Given the description of an element on the screen output the (x, y) to click on. 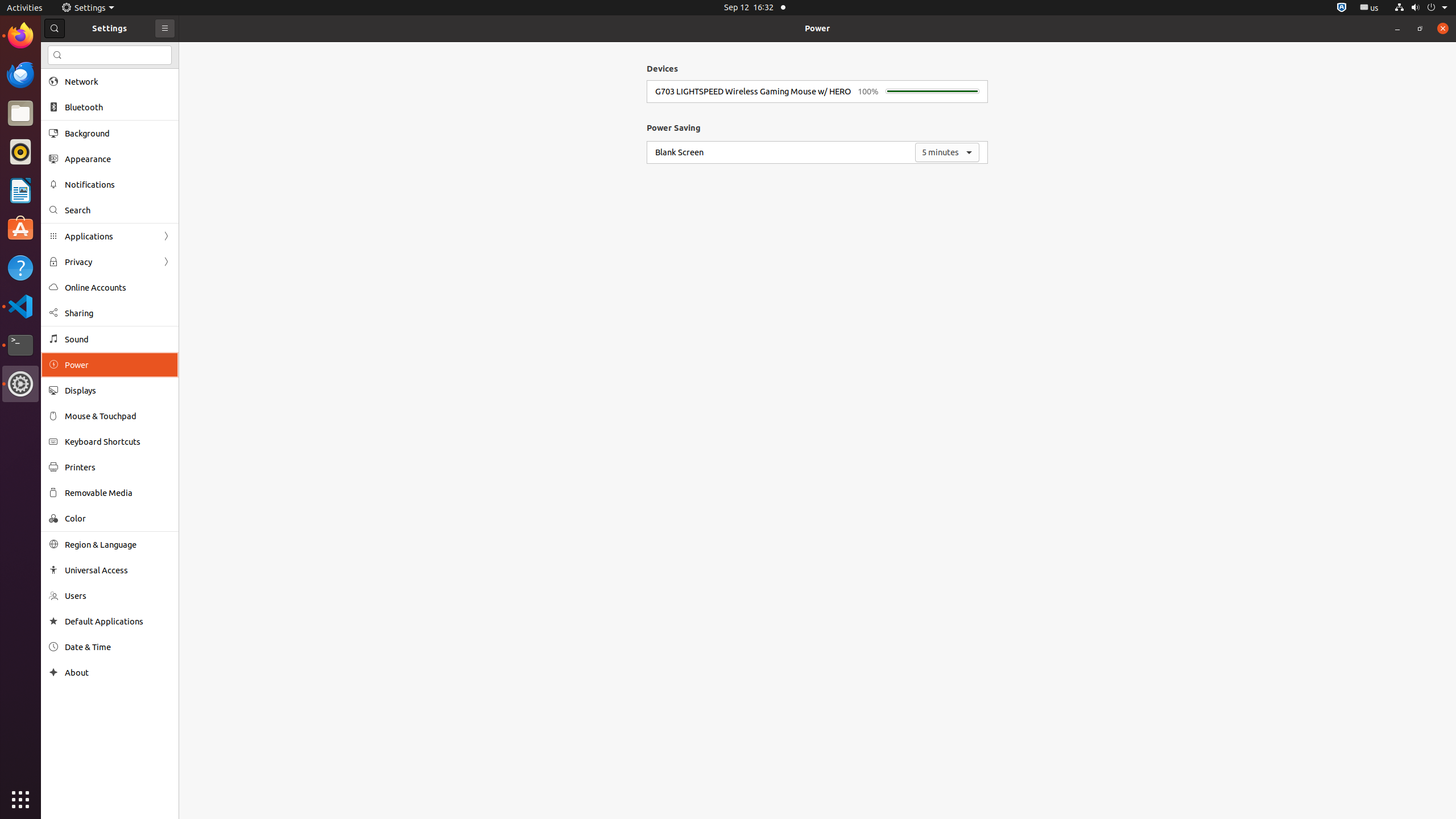
Appearance Element type: label (117, 158)
About Element type: icon (53, 672)
Mouse & Touchpad Element type: label (117, 415)
Close Element type: push-button (1442, 27)
100% Element type: label (867, 91)
